Given the description of an element on the screen output the (x, y) to click on. 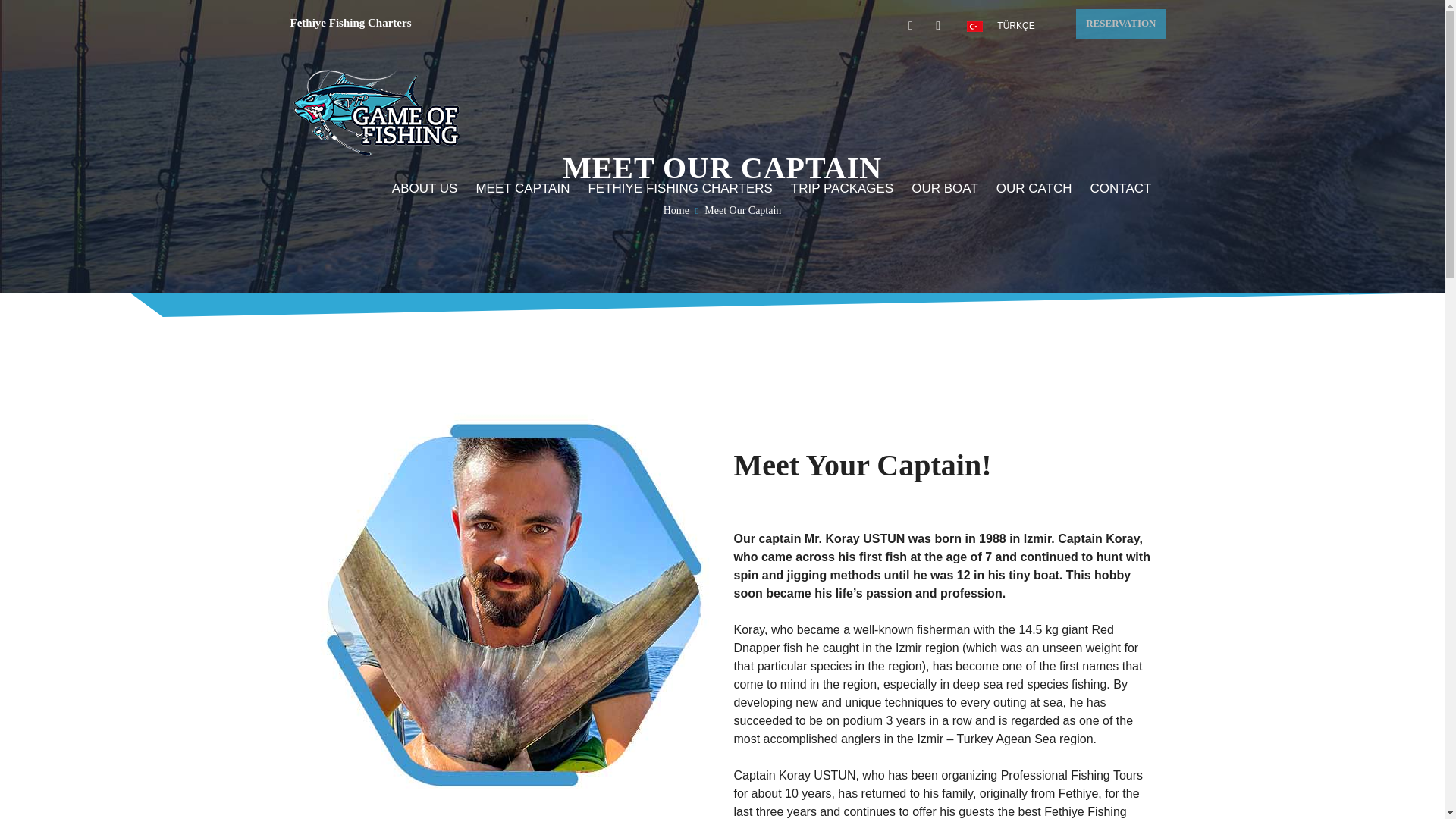
FETHIYE FISHING CHARTERS (673, 185)
MEET CAPTAIN (516, 185)
OUR BOAT (938, 185)
Fethiye Fishing Charters (349, 22)
TRIP PACKAGES (835, 185)
Home (675, 210)
RESERVATION (1121, 22)
RESERVATION (1120, 23)
OUR CATCH (1027, 185)
CONTACT (1114, 185)
